Given the description of an element on the screen output the (x, y) to click on. 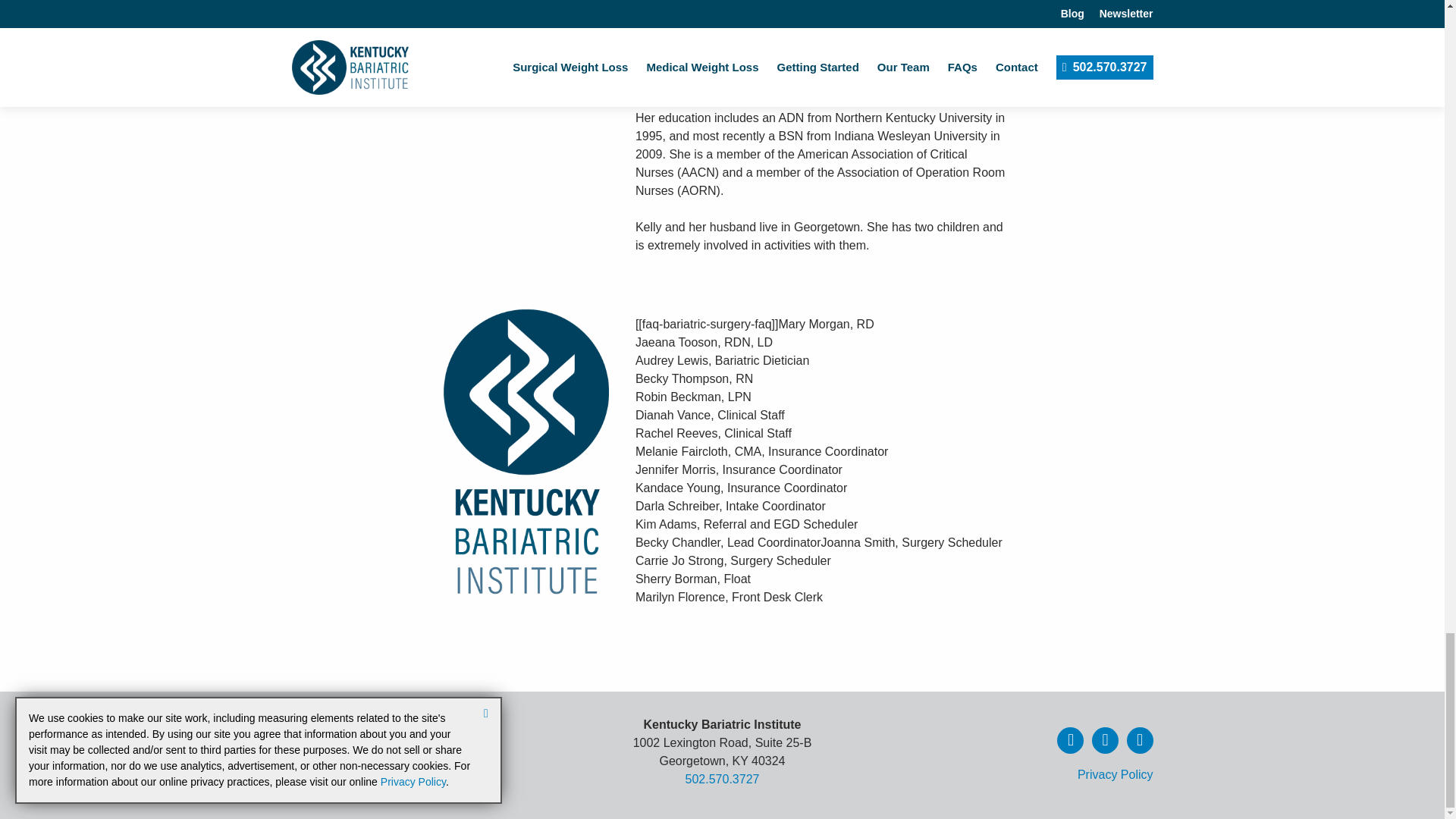
Privacy Policy (1115, 774)
502.570.3727 (722, 779)
